Given the description of an element on the screen output the (x, y) to click on. 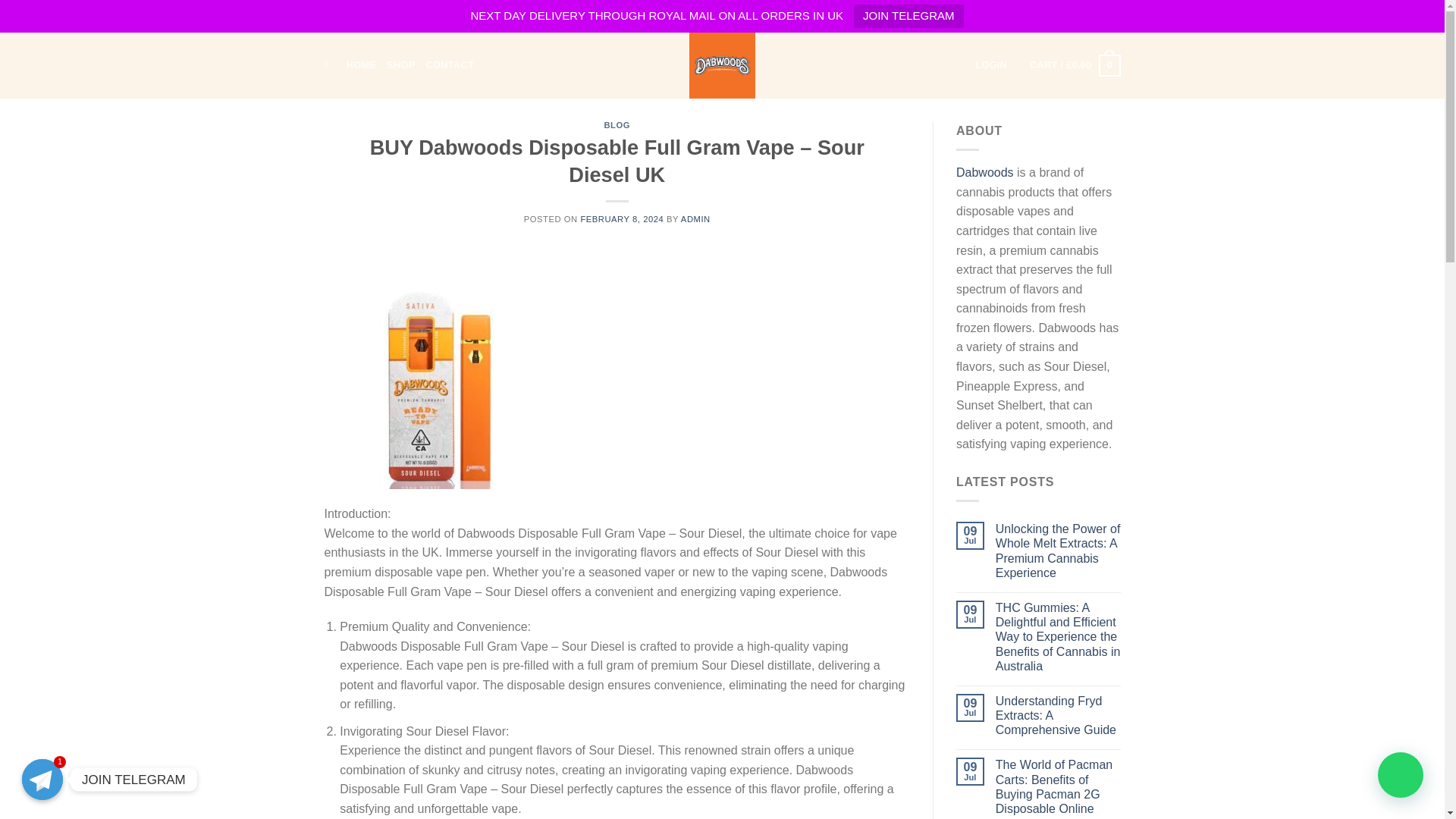
SHOP (400, 64)
FEBRUARY 8, 2024 (621, 218)
ADMIN (695, 218)
HOME (360, 64)
CONTACT (450, 64)
Understanding Fryd Extracts: A Comprehensive Guide (1058, 715)
Understanding Fryd Extracts: A Comprehensive Guide (1058, 715)
LOGIN (991, 64)
Dabwoods disposables uk (721, 65)
Dabwoods (984, 172)
